Given the description of an element on the screen output the (x, y) to click on. 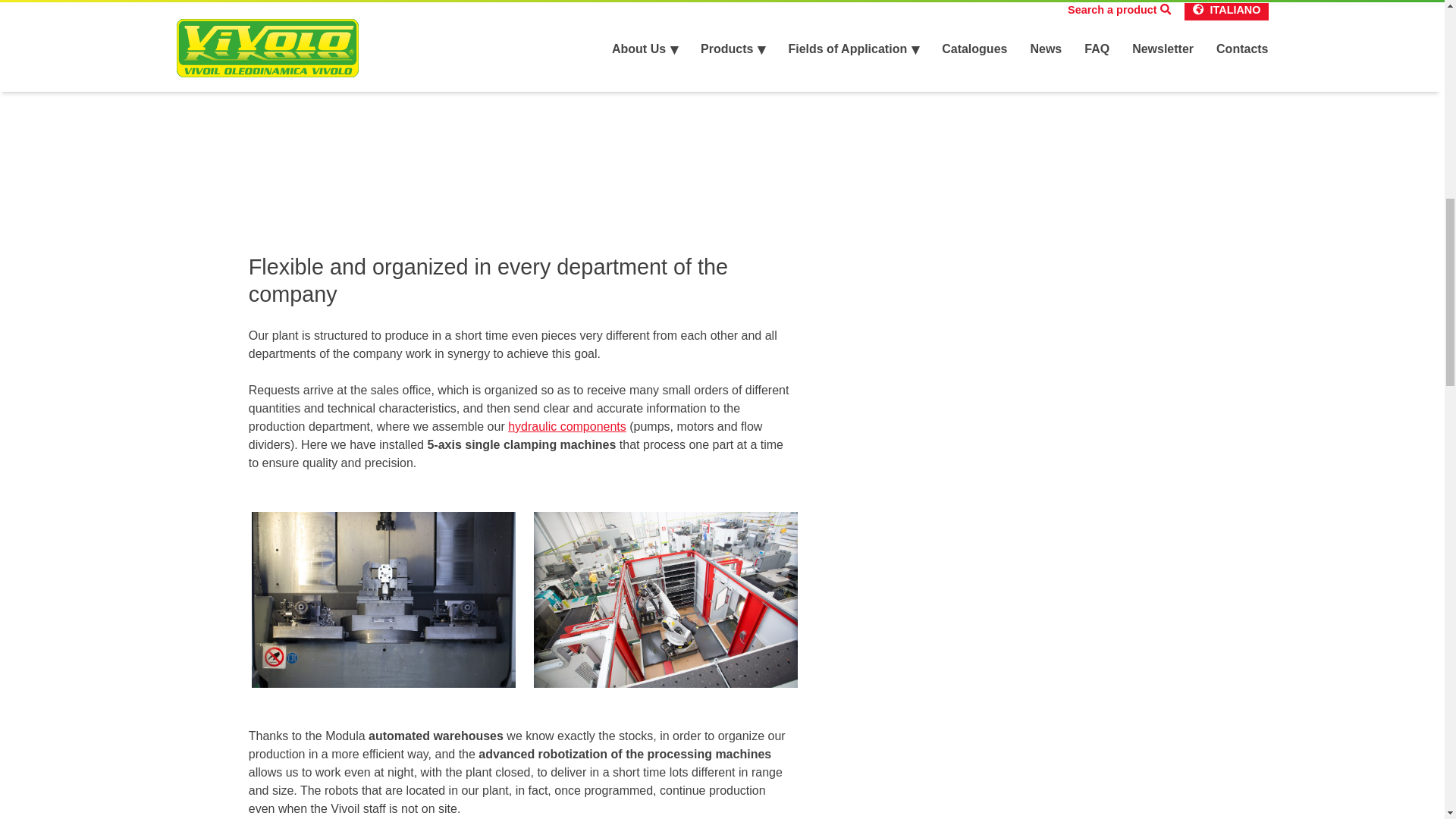
hydraulic components (567, 426)
Machinery to produce hydraulic pumps (383, 599)
Machinery to produce hydraulic pumps (665, 599)
